Given the description of an element on the screen output the (x, y) to click on. 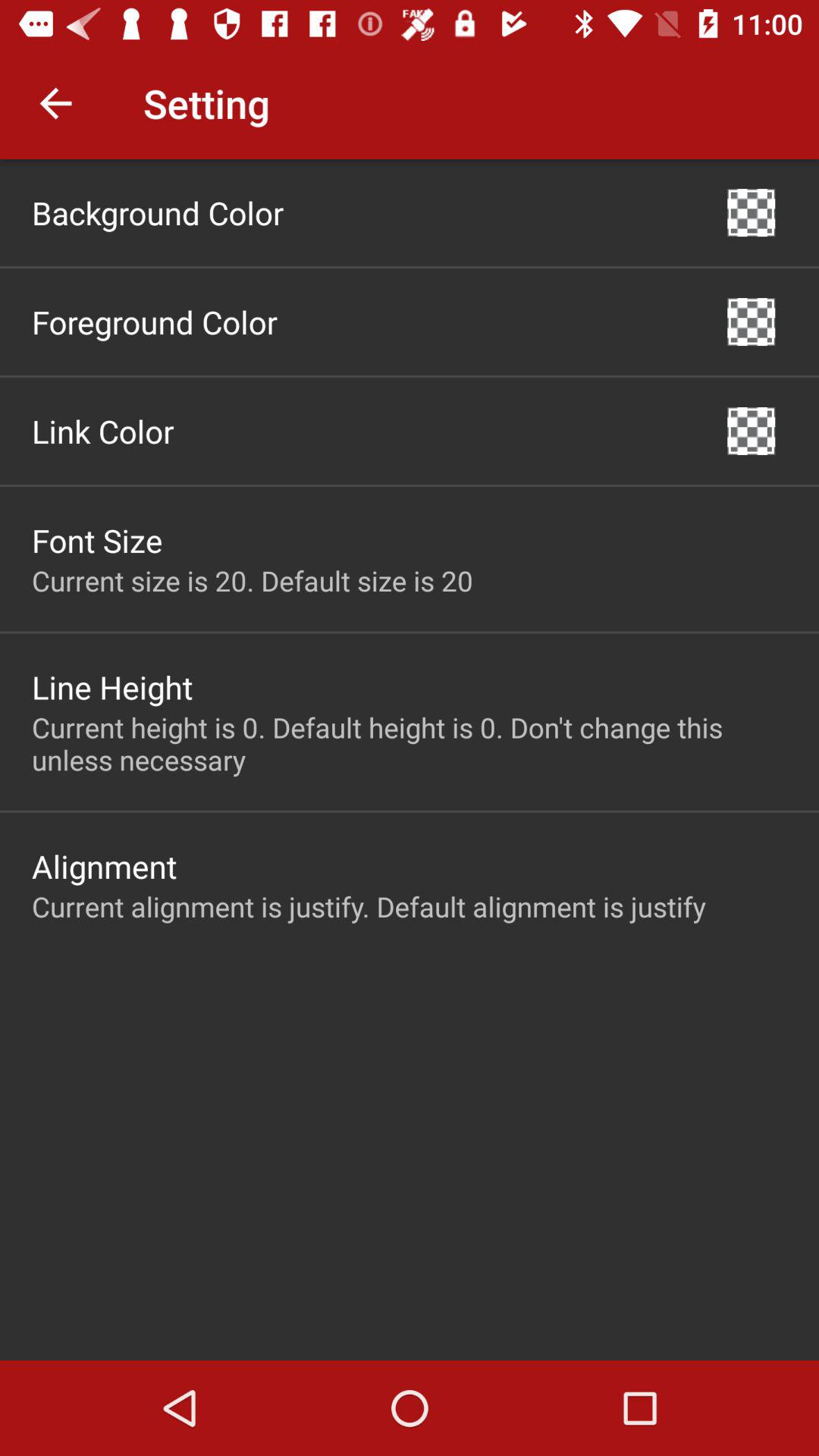
tap font size item (96, 539)
